Given the description of an element on the screen output the (x, y) to click on. 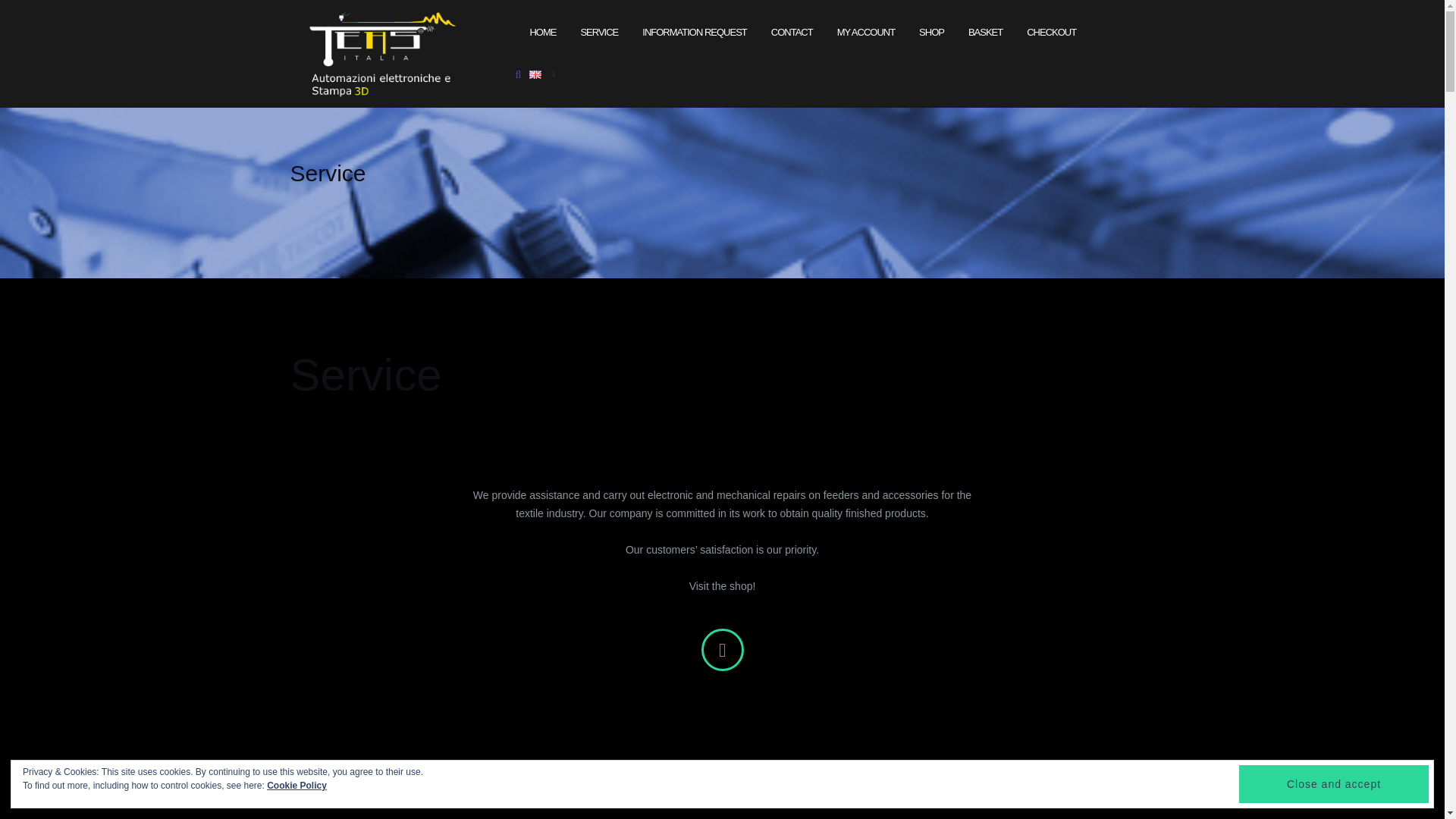
Information request (693, 33)
CONTACT (791, 33)
MY ACCOUNT (866, 33)
Checkout (1050, 33)
CHECKOUT (1050, 33)
Cookie Policy (296, 785)
SERVICE (598, 33)
INFORMATION REQUEST (693, 33)
Close and accept (1333, 783)
Close and accept (1333, 783)
My account (866, 33)
Contact (791, 33)
Service (598, 33)
